Given the description of an element on the screen output the (x, y) to click on. 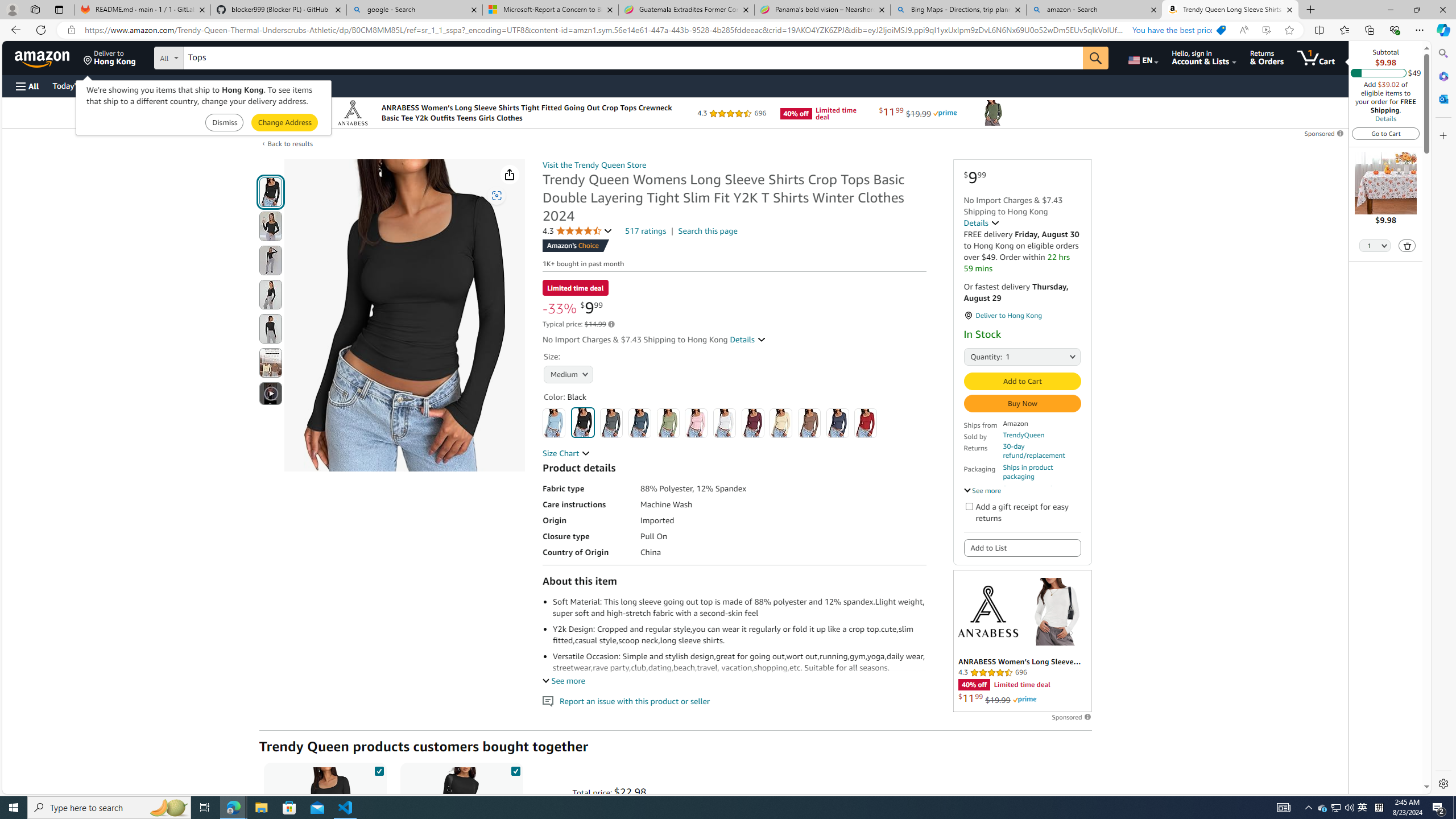
1 item in cart (1315, 57)
Search in (210, 56)
Gray (611, 422)
Ships in product packaging (1042, 471)
Enhance video (1266, 29)
4.3 4.3 out of 5 stars (577, 230)
Haze Blue (639, 422)
